Given the description of an element on the screen output the (x, y) to click on. 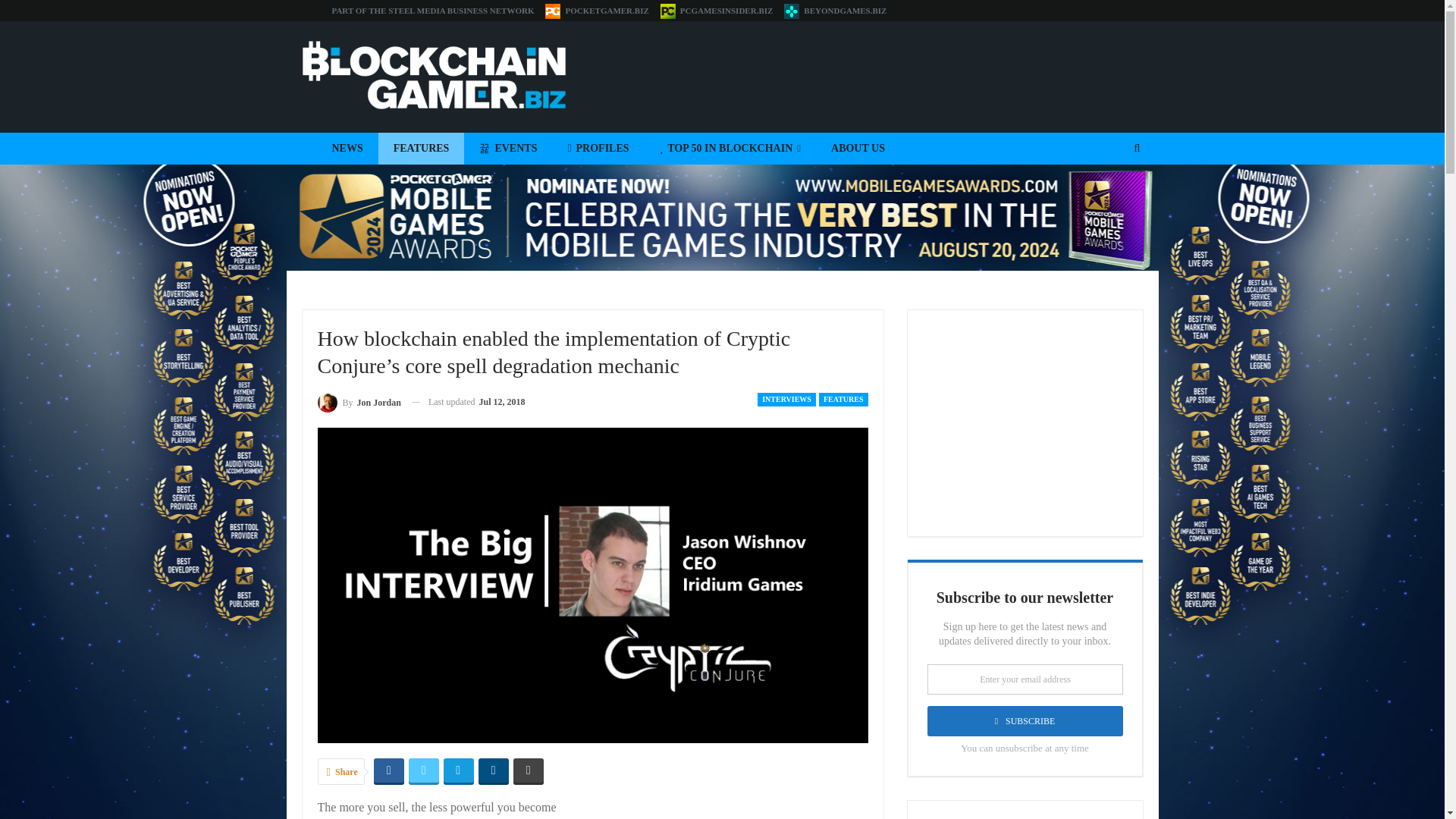
TOP 50 IN BLOCKCHAIN (730, 148)
FEATURES (842, 399)
Browse Author Articles (358, 402)
ABOUT US (857, 148)
EVENTS (507, 148)
By Jon Jordan (358, 402)
BEYONDGAMES.BIZ (835, 10)
PART OF THE STEEL MEDIA BUSINESS NETWORK (432, 10)
POCKETGAMER.BIZ (595, 10)
NEWS (347, 148)
